Given the description of an element on the screen output the (x, y) to click on. 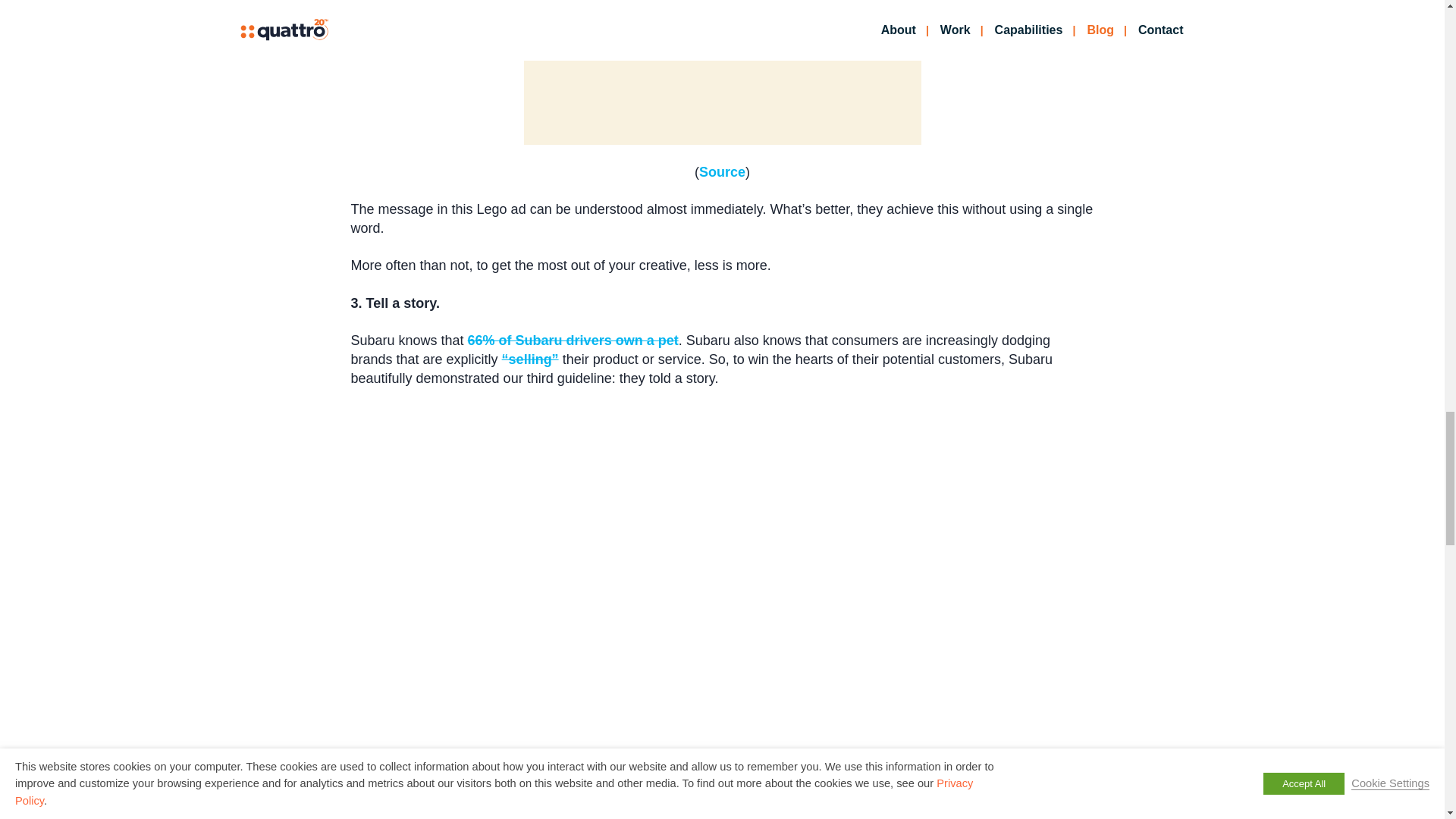
Lego ad (721, 72)
Source (721, 171)
